Given the description of an element on the screen output the (x, y) to click on. 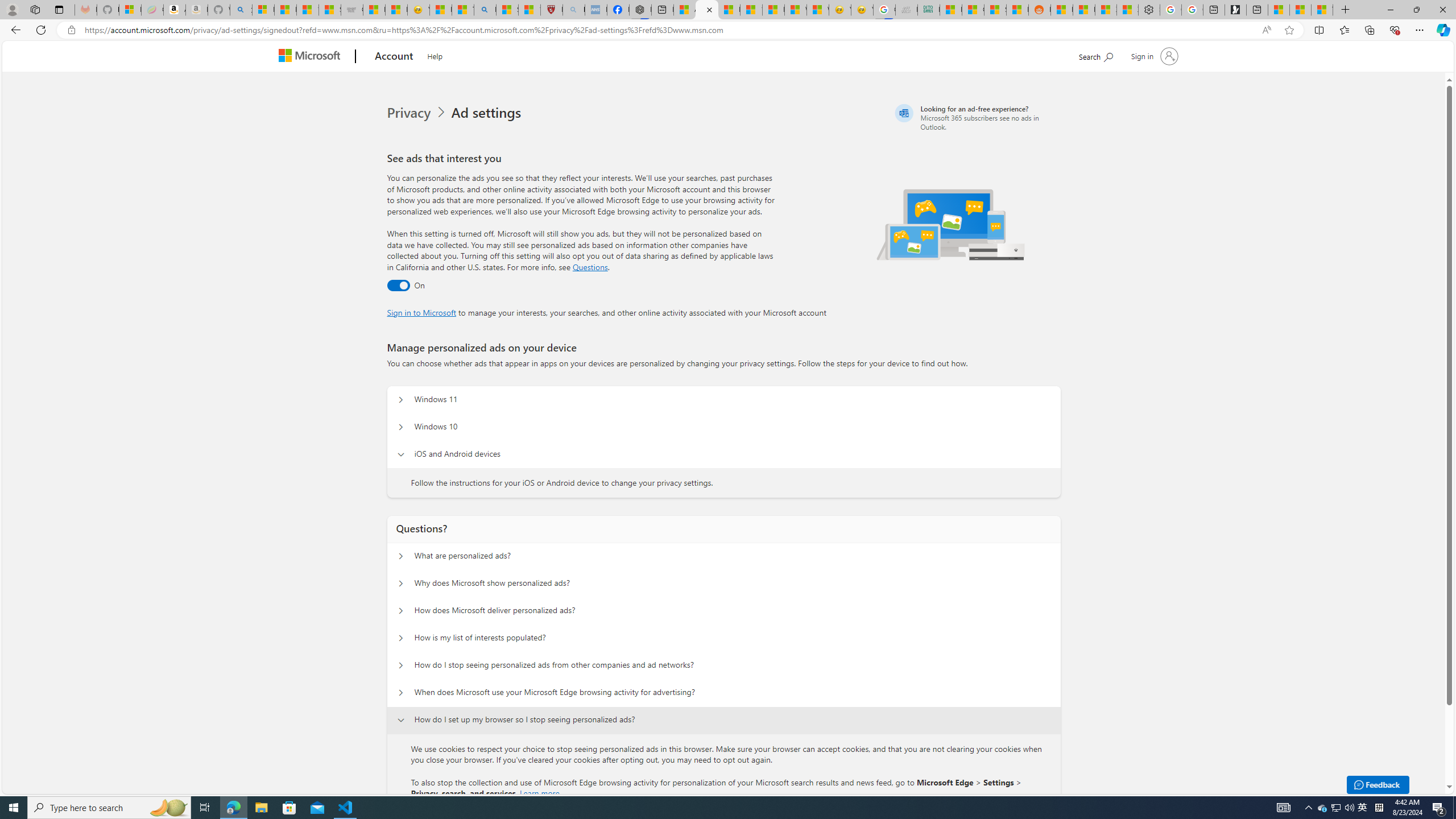
Go to Questions section (590, 266)
Recipes - MSN (441, 9)
These 3 Stocks Pay You More Than 5% to Own Them (1322, 9)
Sign in to Microsoft (422, 311)
Science - MSN (507, 9)
